Given the description of an element on the screen output the (x, y) to click on. 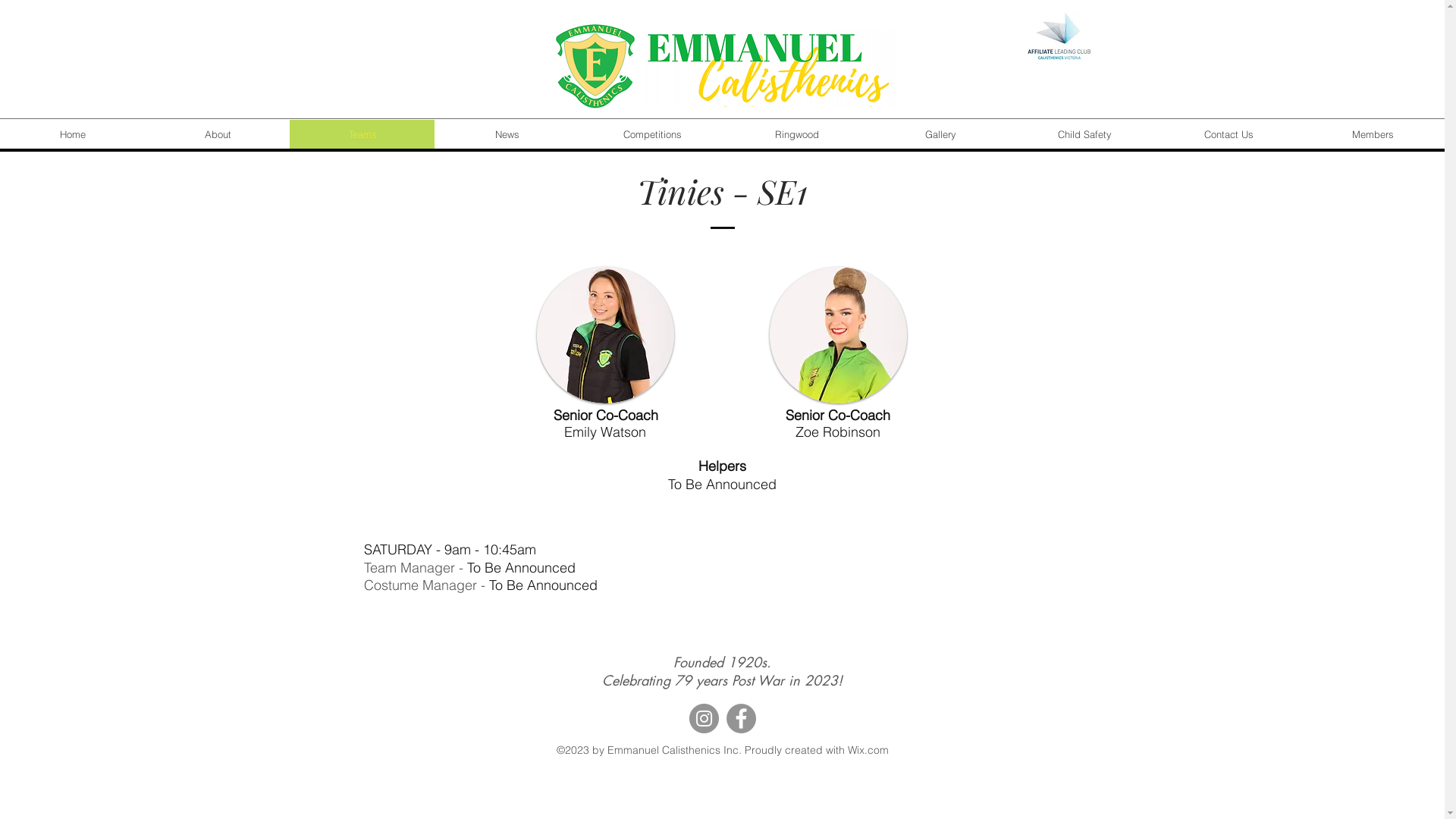
guy2.jpg Element type: hover (837, 334)
About Element type: text (216, 133)
Home Element type: text (72, 133)
Members Element type: text (1372, 133)
Teams Element type: text (361, 133)
guy2.jpg Element type: hover (605, 334)
News Element type: text (506, 133)
Contact Us Element type: text (1228, 133)
Ringwood Element type: text (796, 133)
Child Safety Element type: text (1084, 133)
Competitions Element type: text (651, 133)
Gallery Element type: text (940, 133)
